Given the description of an element on the screen output the (x, y) to click on. 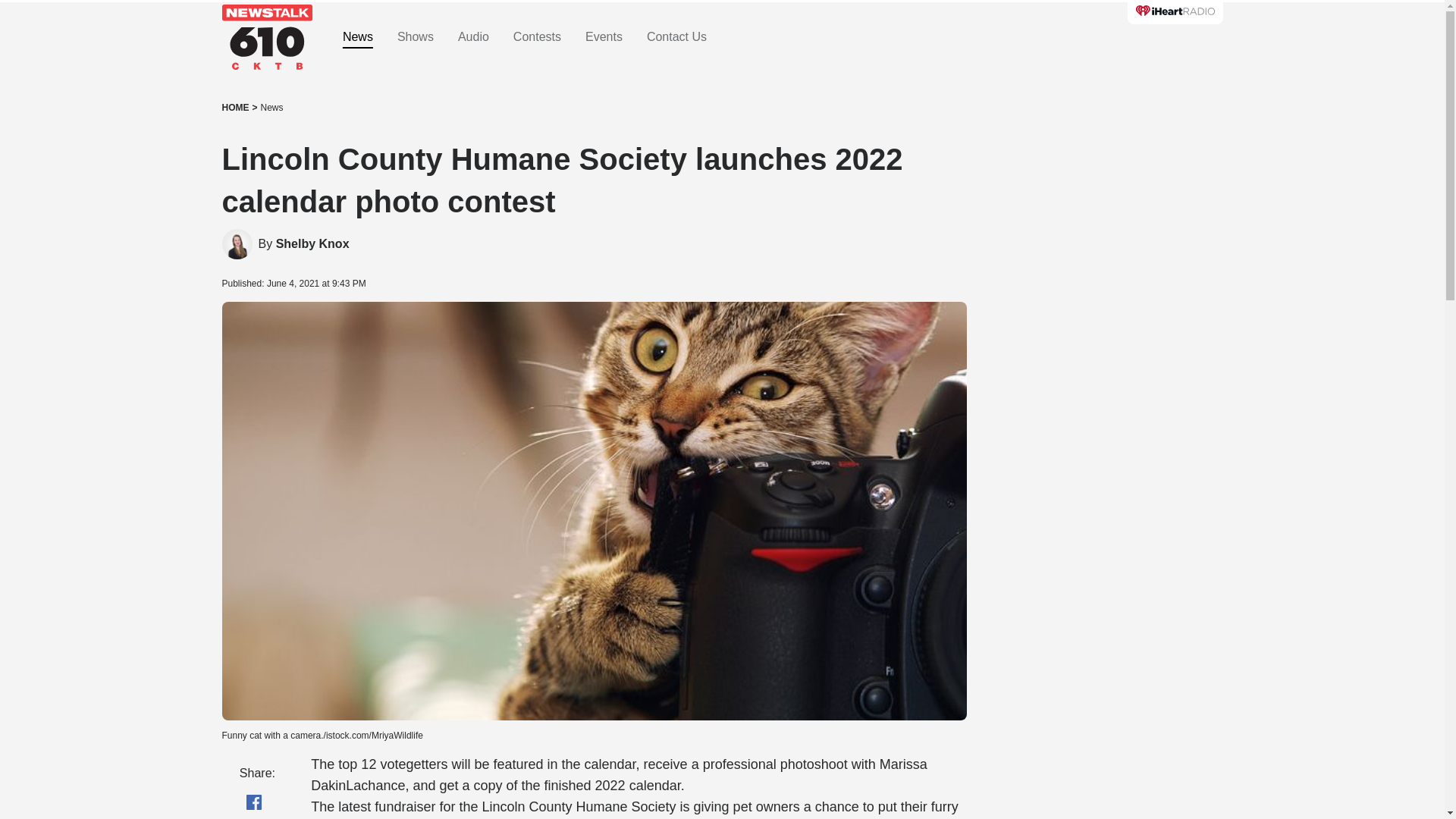
Shelby Knox (312, 243)
Contests (536, 37)
Shelby Knox (236, 244)
HOME (234, 107)
Contact Us (676, 37)
Shelby Knox (312, 243)
News (271, 107)
